Given the description of an element on the screen output the (x, y) to click on. 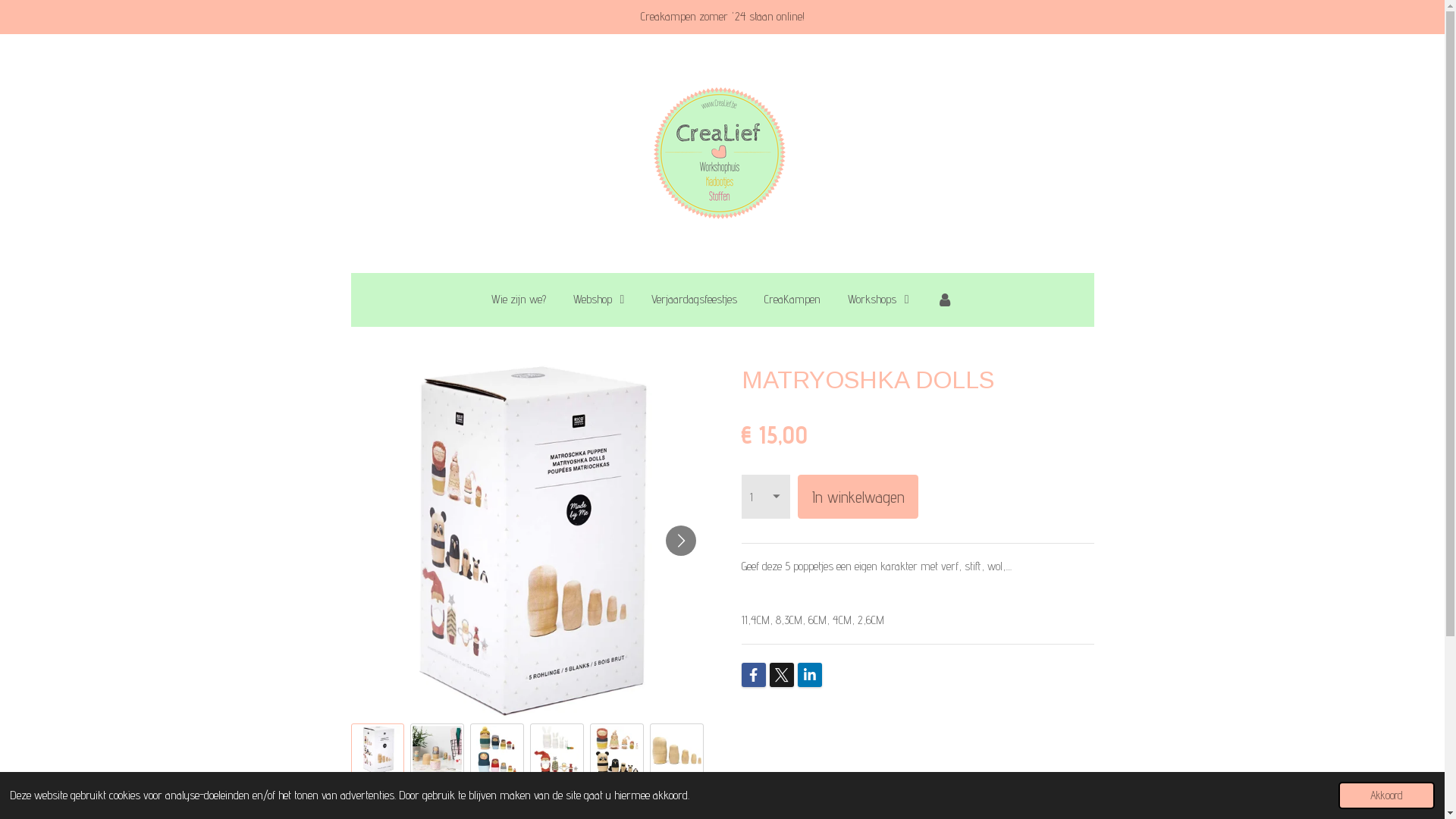
Verjaardagsfeestjes Element type: text (693, 299)
Akkoord Element type: text (1386, 795)
Wie zijn we? Element type: text (518, 299)
CreaKampen Element type: text (792, 299)
Account Element type: hover (944, 299)
In winkelwagen Element type: text (857, 496)
Workshops Element type: text (877, 299)
Webshop Element type: text (598, 299)
CreaLief Element type: hover (721, 153)
